Given the description of an element on the screen output the (x, y) to click on. 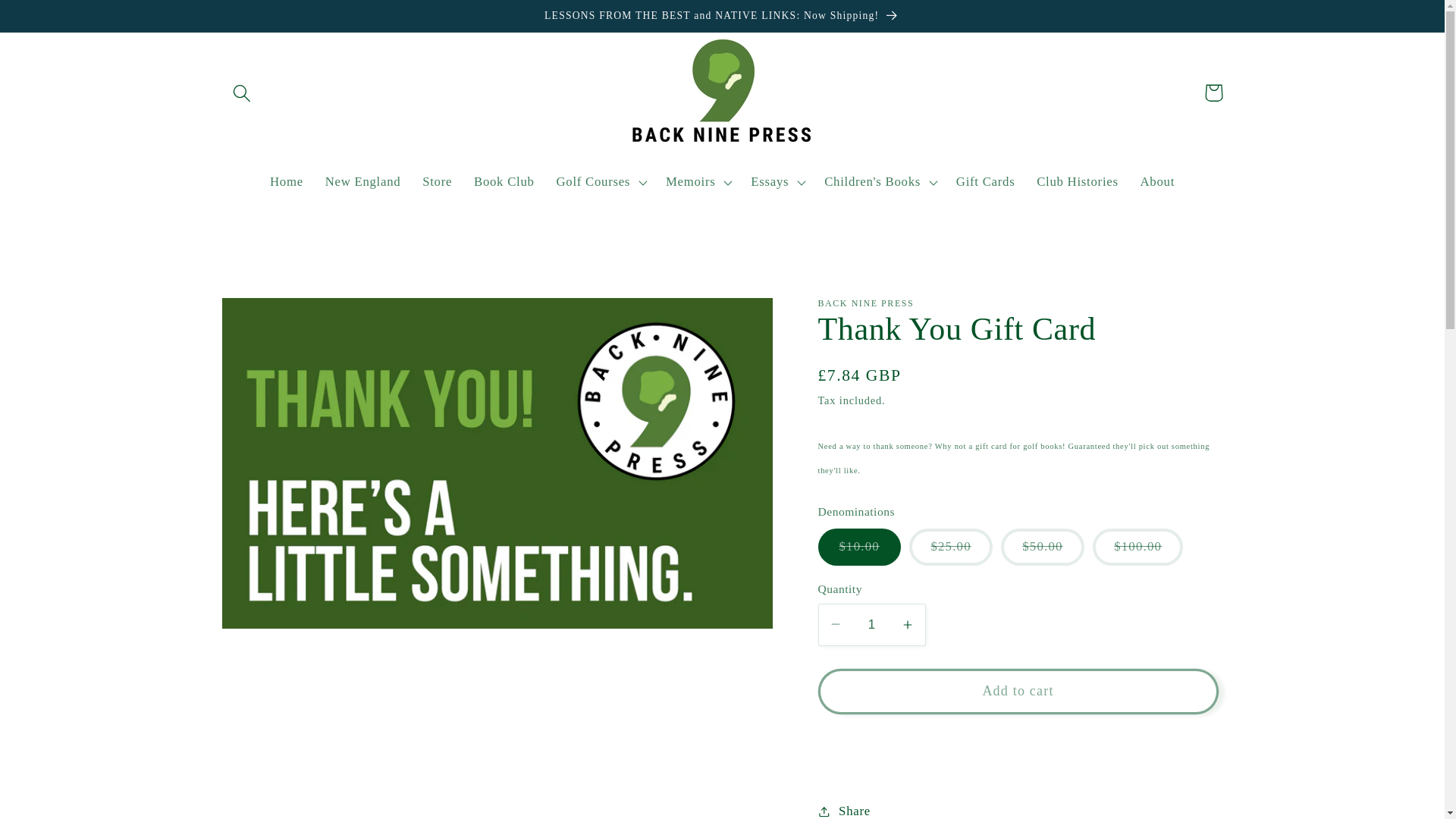
Store (437, 181)
Home (286, 181)
Book Club (503, 181)
New England (363, 181)
Skip to content (56, 22)
1 (870, 624)
